Given the description of an element on the screen output the (x, y) to click on. 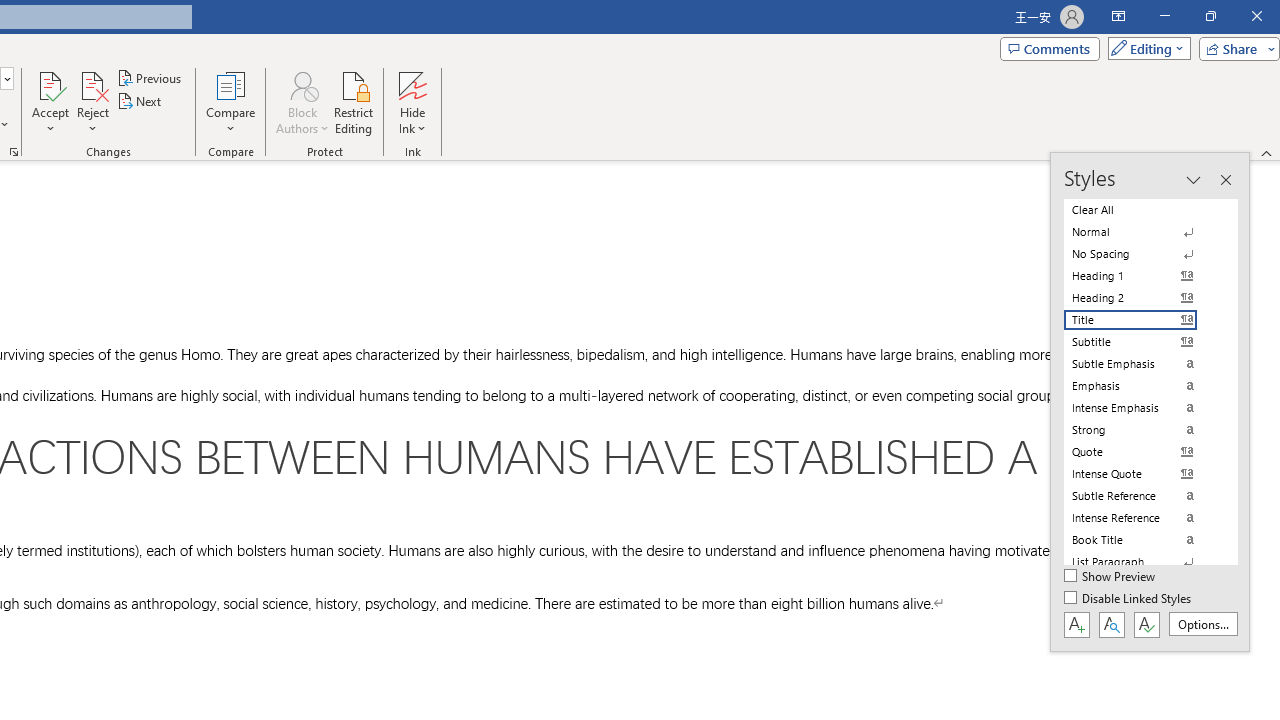
Show Preview (1110, 577)
Next (140, 101)
List Paragraph (1142, 561)
Intense Emphasis (1142, 407)
Title (1142, 319)
Subtitle (1142, 341)
Reject (92, 102)
Heading 1 (1142, 275)
Options... (1202, 623)
Editing (1144, 47)
Heading 2 (1142, 297)
Accept and Move to Next (50, 84)
Block Authors (302, 84)
